Given the description of an element on the screen output the (x, y) to click on. 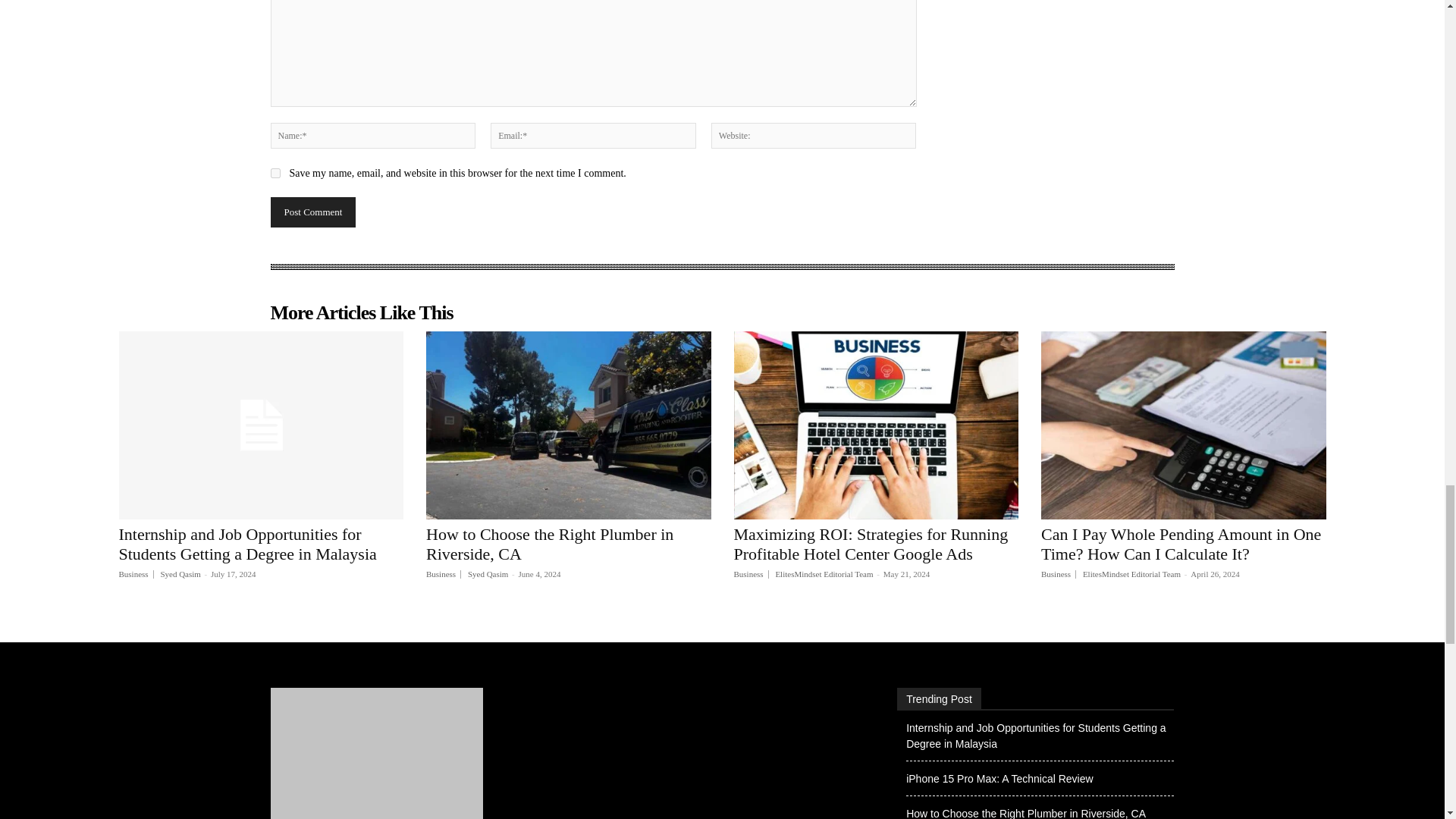
Post Comment (312, 212)
yes (274, 173)
